Given the description of an element on the screen output the (x, y) to click on. 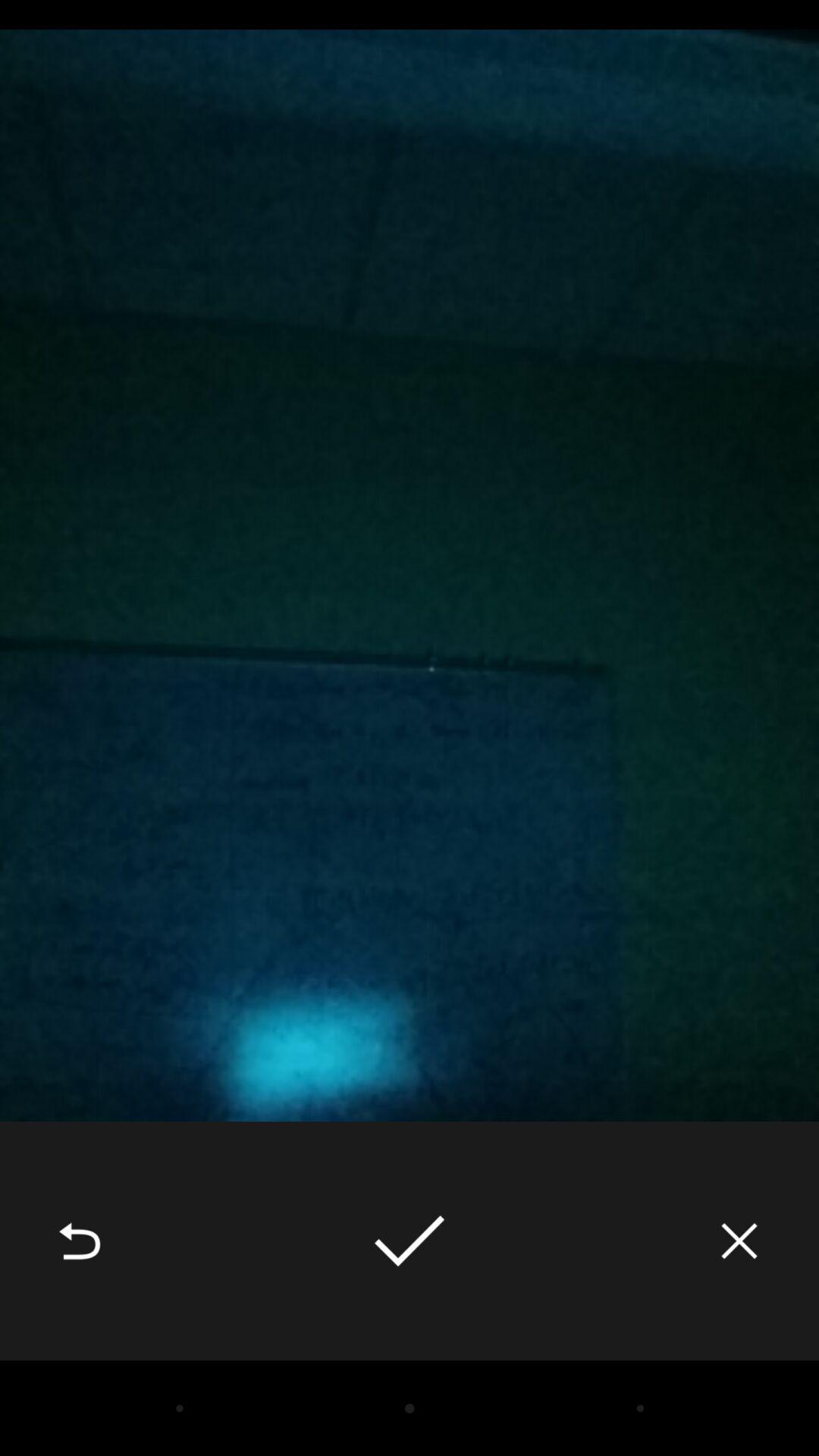
launch the icon at the bottom left corner (79, 1240)
